Given the description of an element on the screen output the (x, y) to click on. 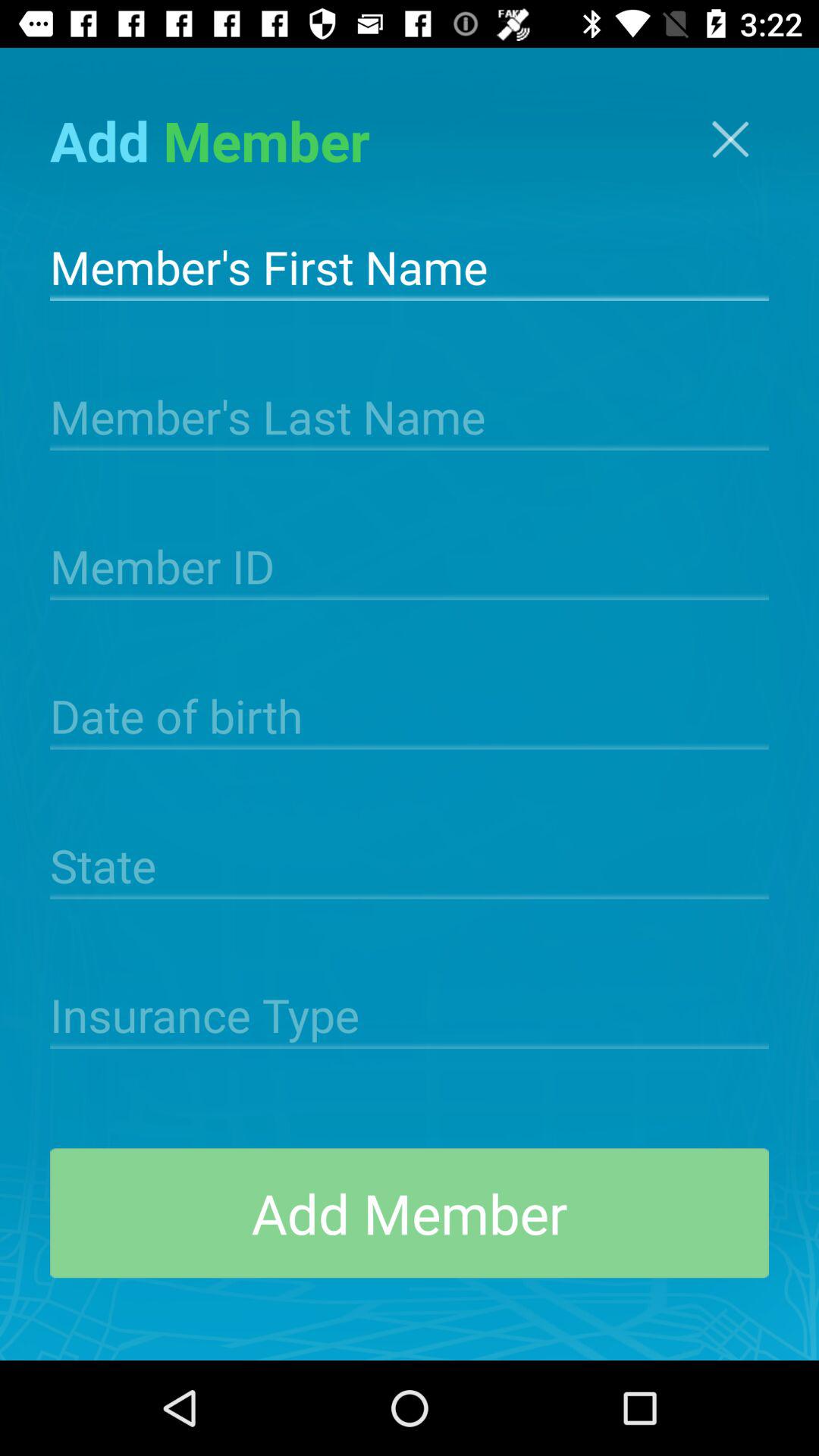
add insurance type (409, 1013)
